Given the description of an element on the screen output the (x, y) to click on. 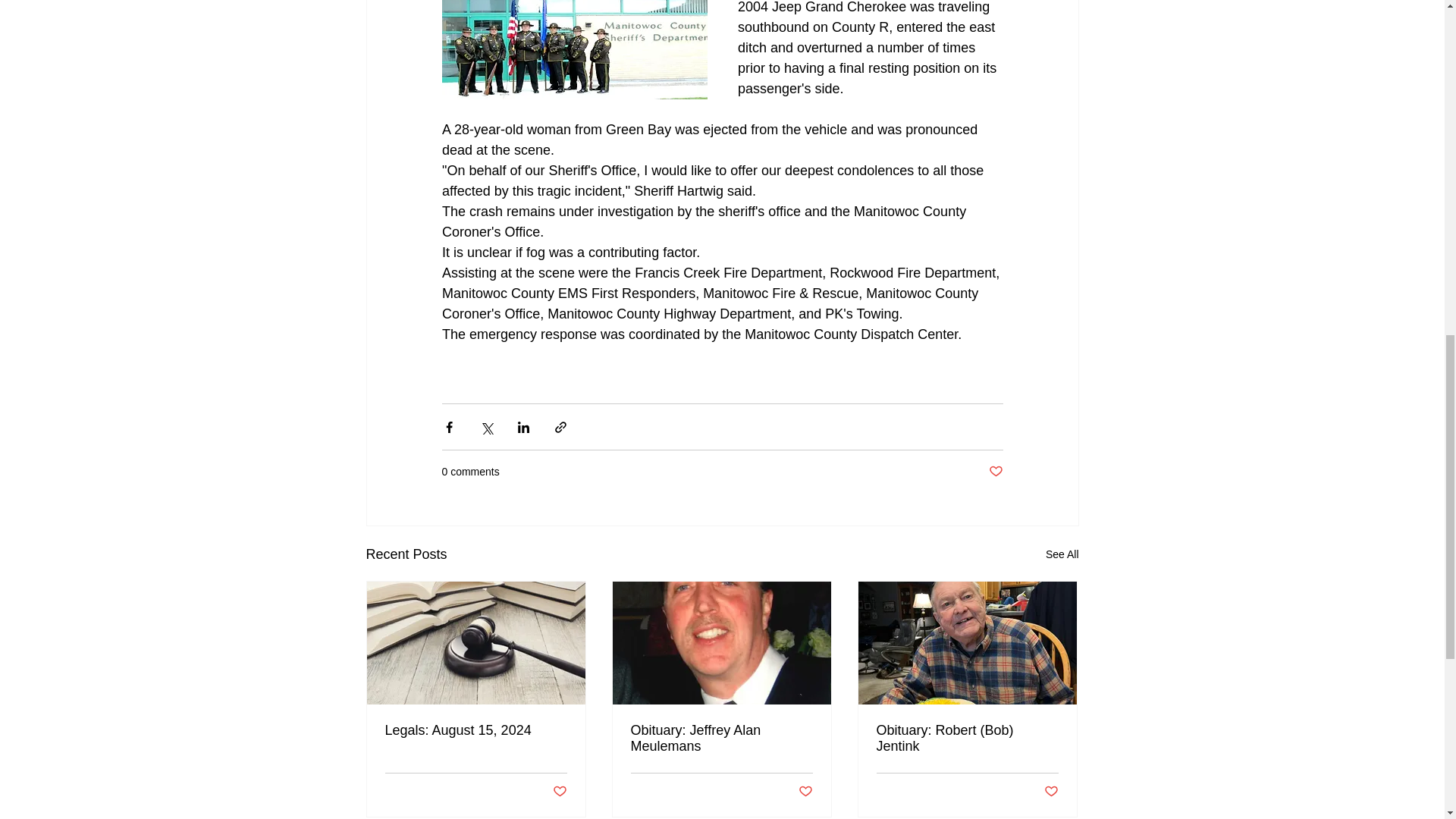
Post not marked as liked (995, 471)
Post not marked as liked (558, 791)
Legals: August 15, 2024 (476, 730)
See All (1061, 554)
Obituary: Jeffrey Alan Meulemans (721, 738)
